Given the description of an element on the screen output the (x, y) to click on. 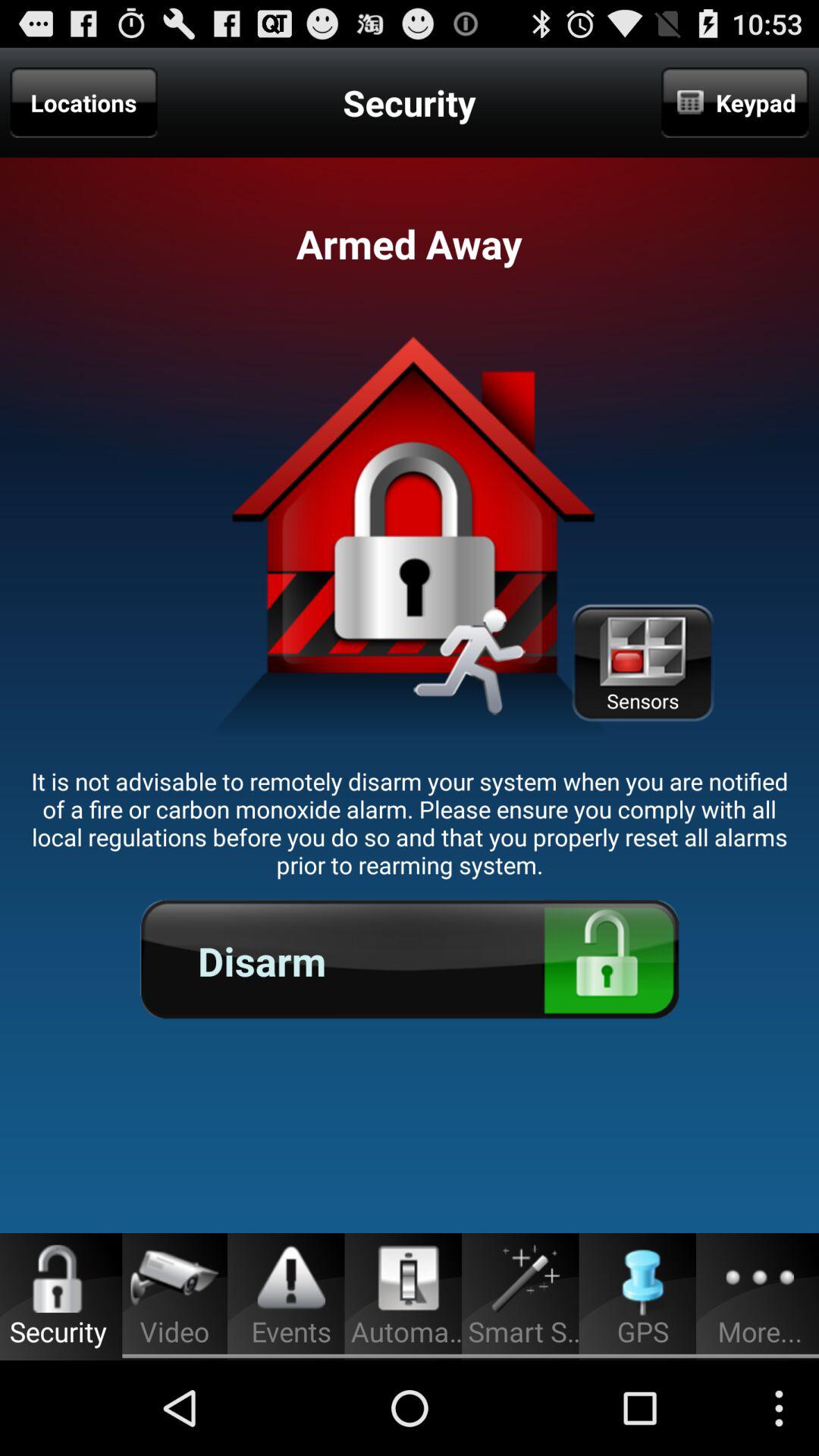
turn off item at the top left corner (83, 102)
